Given the description of an element on the screen output the (x, y) to click on. 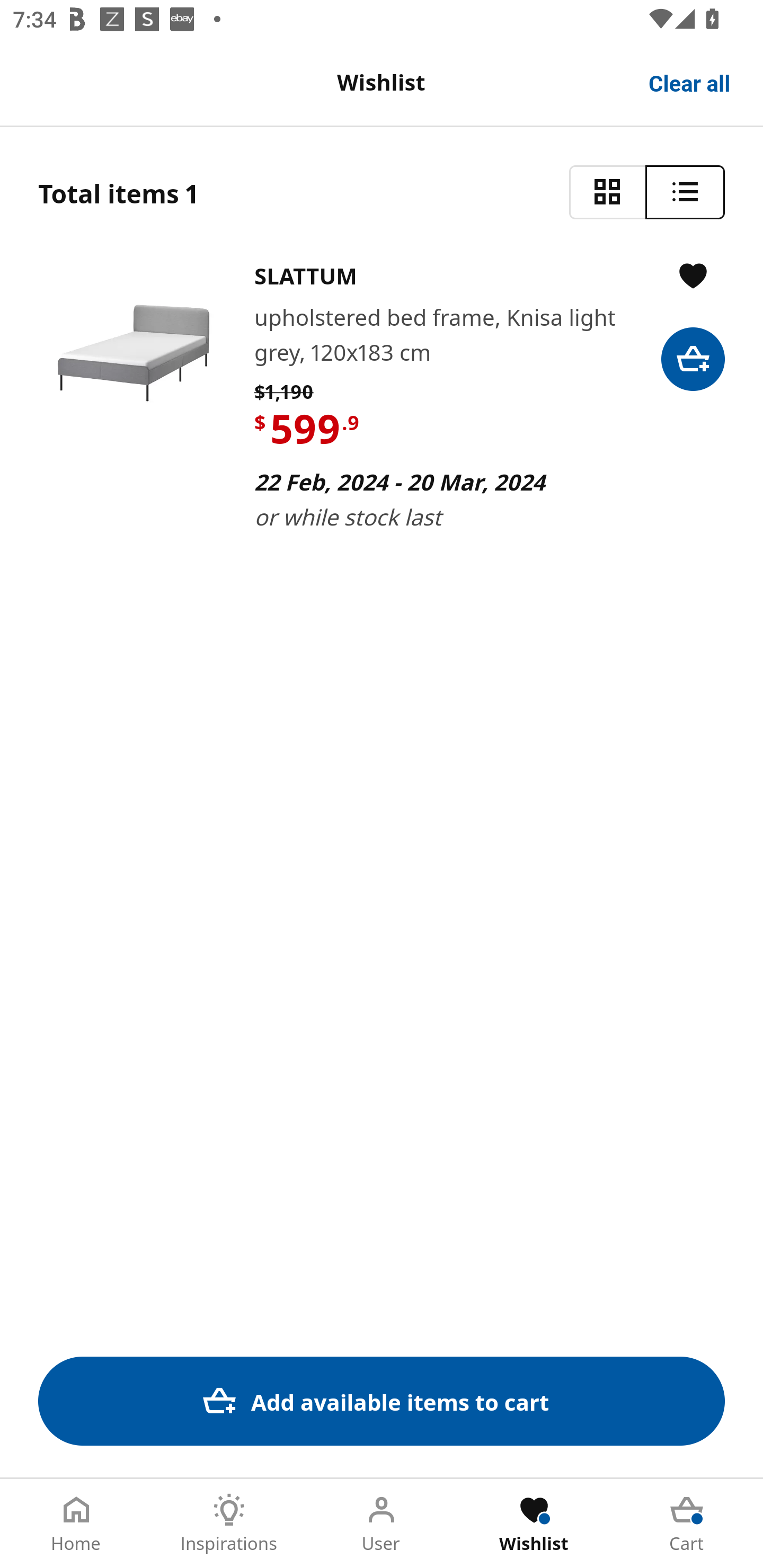
Clear all (689, 81)
Add available items to cart (381, 1400)
Home
Tab 1 of 5 (76, 1522)
Inspirations
Tab 2 of 5 (228, 1522)
User
Tab 3 of 5 (381, 1522)
Wishlist
Tab 4 of 5 (533, 1522)
Cart
Tab 5 of 5 (686, 1522)
